Given the description of an element on the screen output the (x, y) to click on. 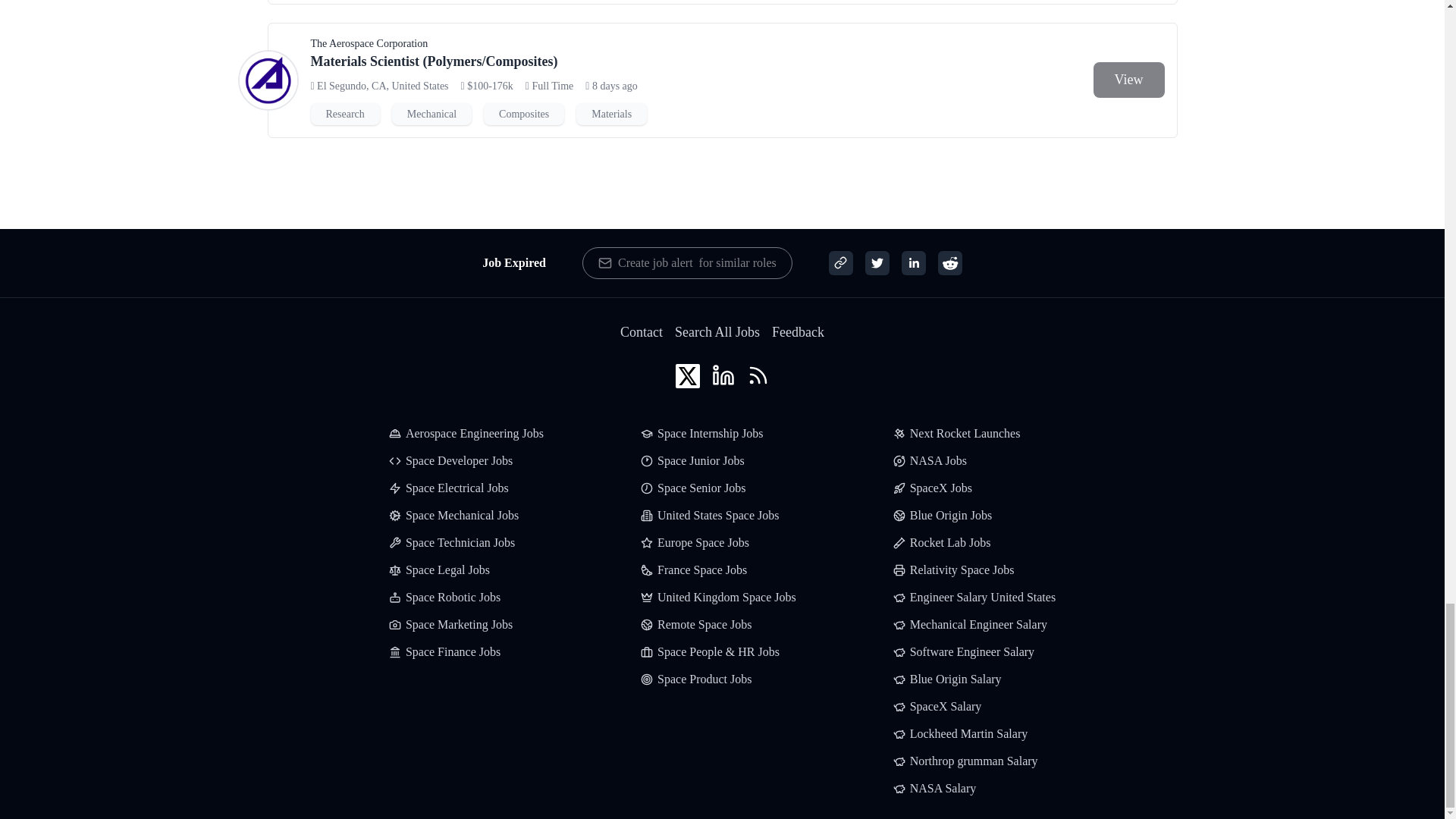
Composites (523, 113)
Mechanical (431, 113)
Research (345, 113)
The Aerospace Corporation (369, 43)
